Given the description of an element on the screen output the (x, y) to click on. 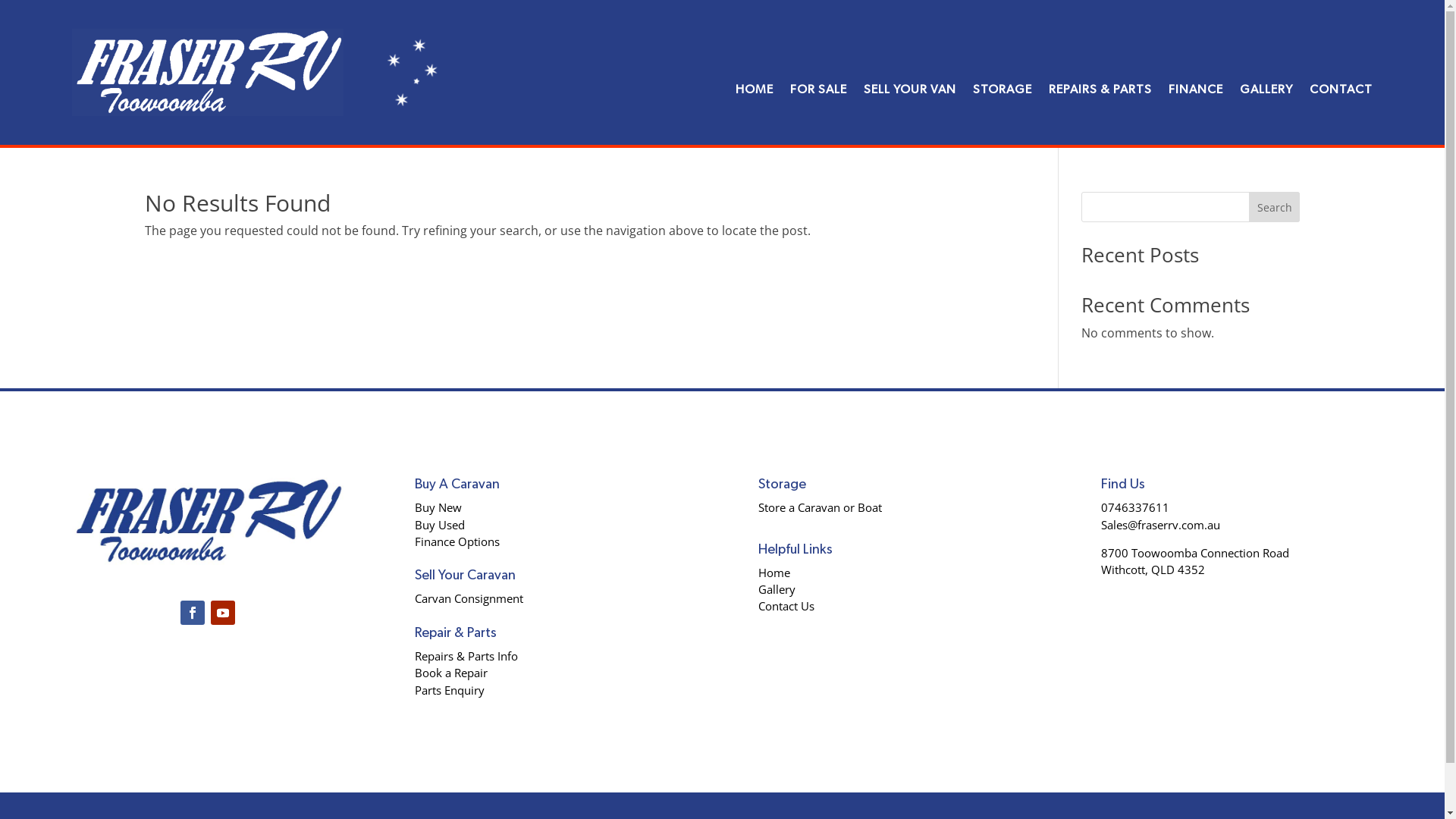
FraserLogo-blue Element type: hover (207, 520)
Home Element type: text (774, 572)
STORAGE Element type: text (1002, 77)
Withcott, QLD 4352 Element type: text (1152, 569)
Finance Options Element type: text (456, 541)
Buy Used Element type: text (439, 524)
REPAIRS & PARTS Element type: text (1099, 77)
Parts Enquiry Element type: text (449, 689)
SELL YOUR VAN Element type: text (909, 77)
8700 Toowoomba Connection Road Element type: text (1195, 552)
Buy New Element type: text (437, 506)
Follow on Facebook Element type: hover (192, 612)
GALLERY Element type: text (1265, 77)
Gallery Element type: text (776, 588)
Repairs & Parts Info Element type: text (465, 655)
Search Element type: text (1274, 206)
Store a Caravan or Boat Element type: text (819, 506)
CONTACT Element type: text (1340, 77)
Contact Us Element type: text (786, 605)
FINANCE Element type: text (1195, 77)
Follow on Youtube Element type: hover (222, 612)
0746337611 Element type: text (1135, 506)
Sales@fraserrv.com.au Element type: text (1160, 524)
Book a Repair Element type: text (450, 672)
FOR SALE Element type: text (818, 77)
Carvan Consignment Element type: text (468, 597)
HOME Element type: text (754, 77)
